Given the description of an element on the screen output the (x, y) to click on. 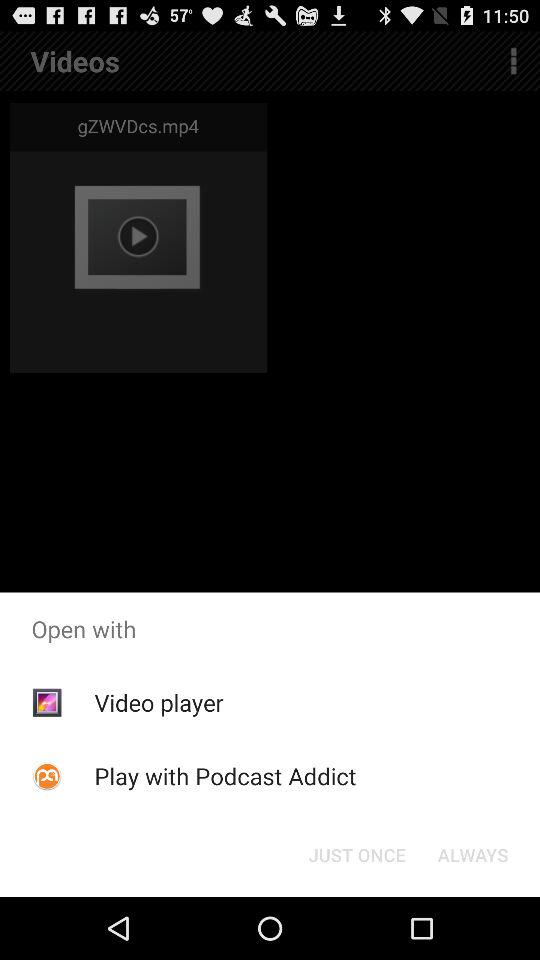
press the icon above play with podcast app (158, 702)
